Given the description of an element on the screen output the (x, y) to click on. 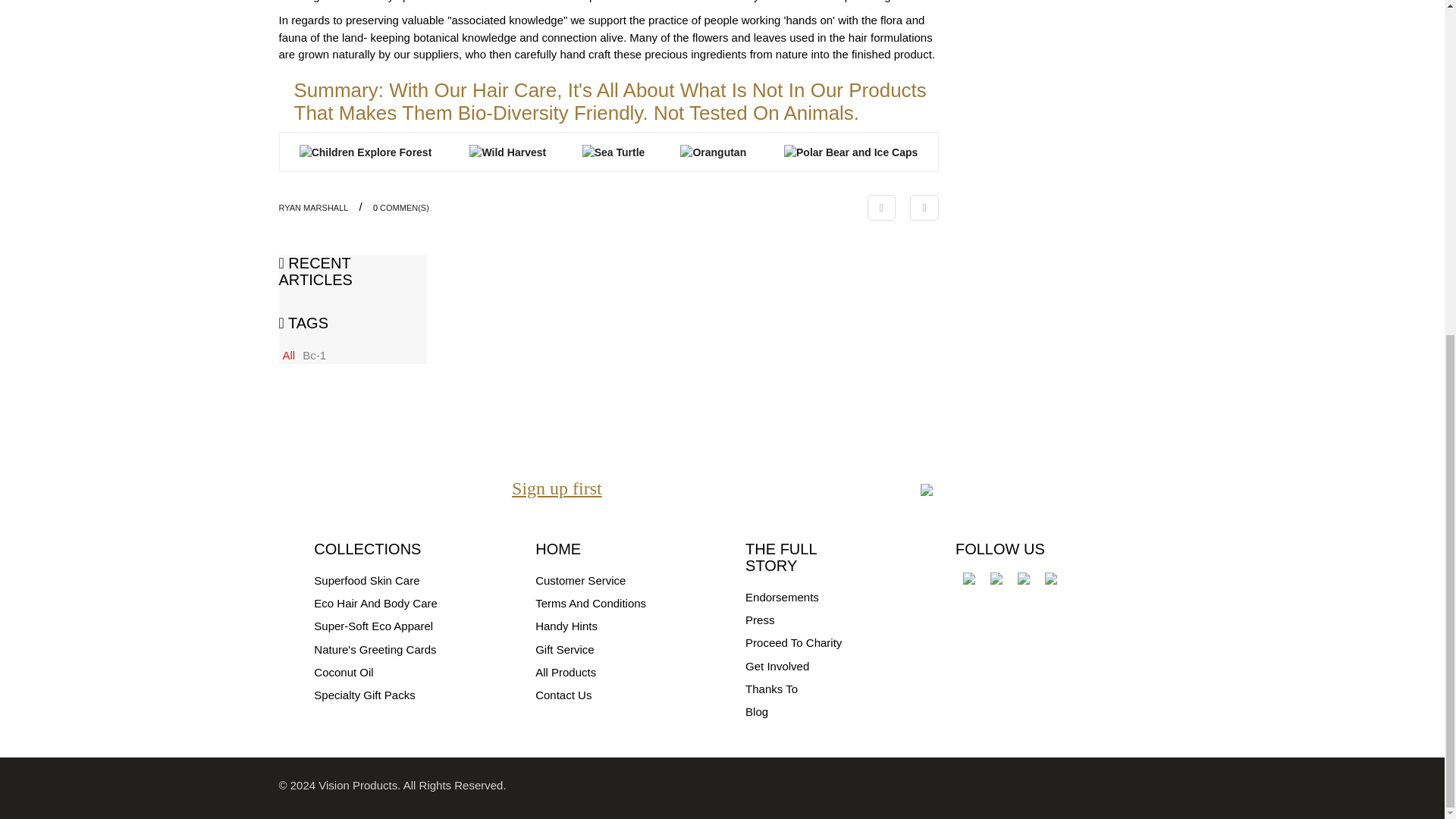
Moneybookers (1147, 787)
Narrow search to articles also having tag bc-1 (314, 354)
Next Article (923, 207)
Visa (1009, 787)
Previous Article (881, 207)
Paypal (1101, 787)
Mastercard (1040, 787)
